Given the description of an element on the screen output the (x, y) to click on. 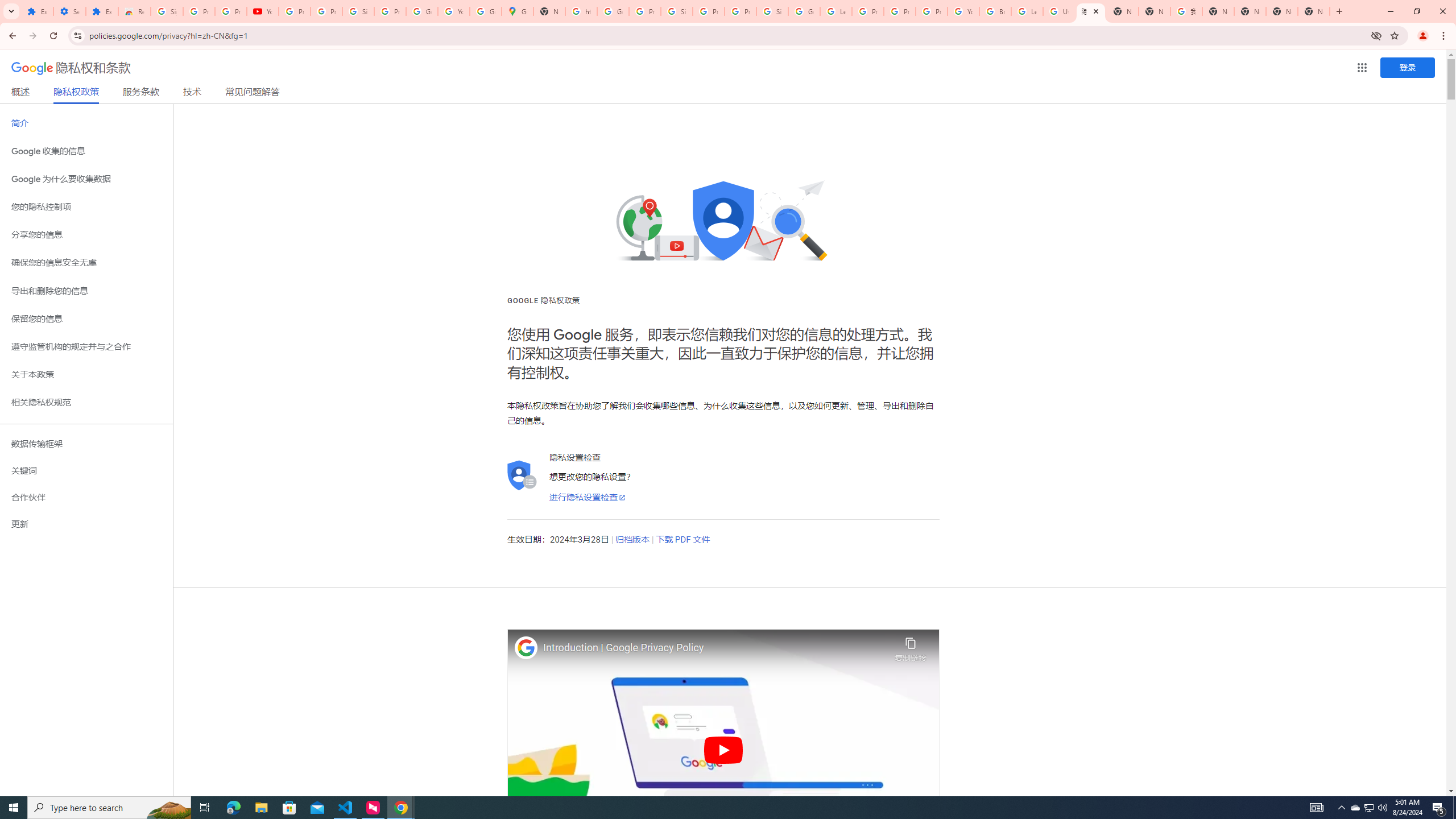
Google Account (421, 11)
New Tab (1313, 11)
Settings (69, 11)
